Given the description of an element on the screen output the (x, y) to click on. 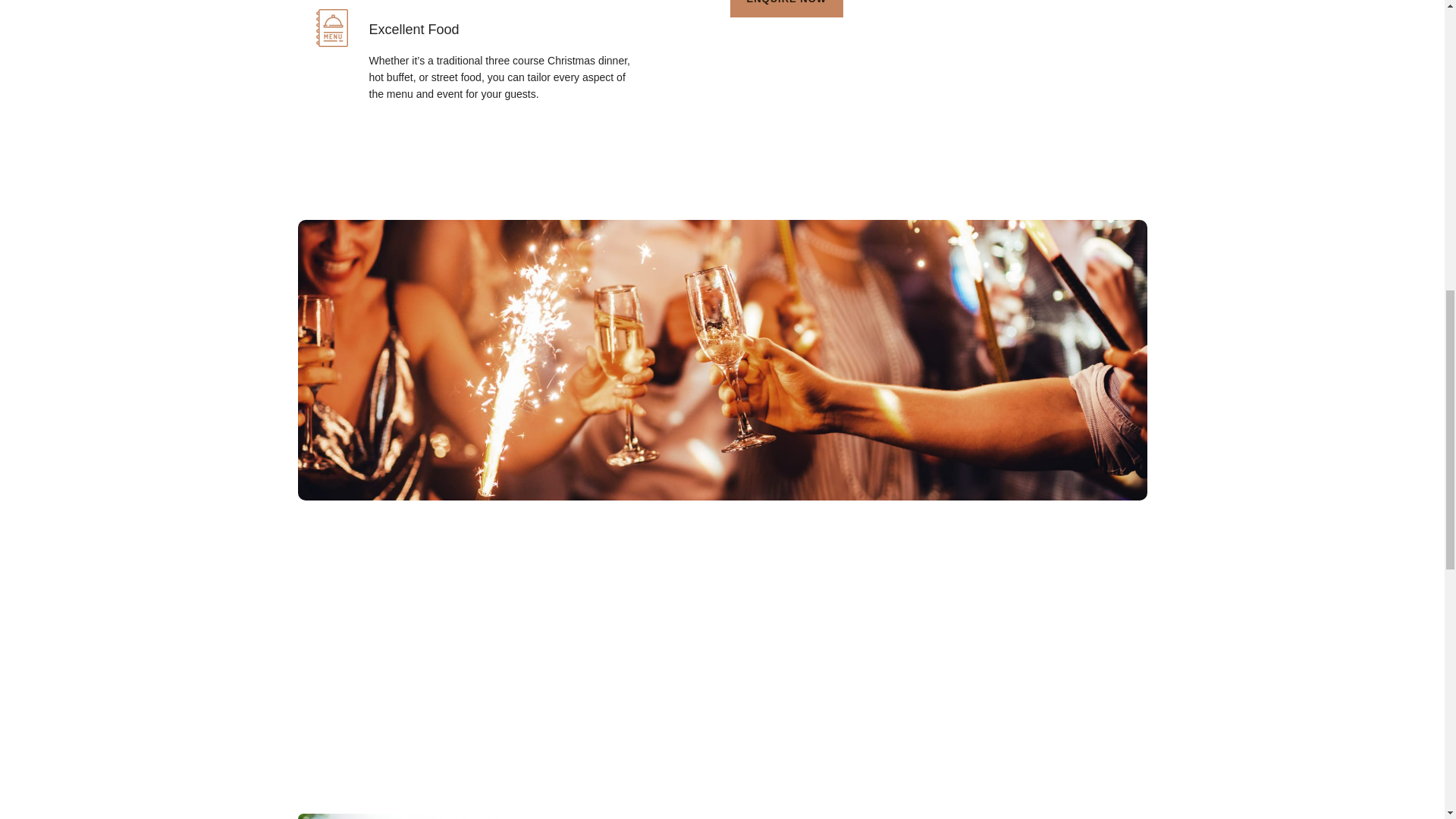
ENQUIRE NOW (786, 8)
